Given the description of an element on the screen output the (x, y) to click on. 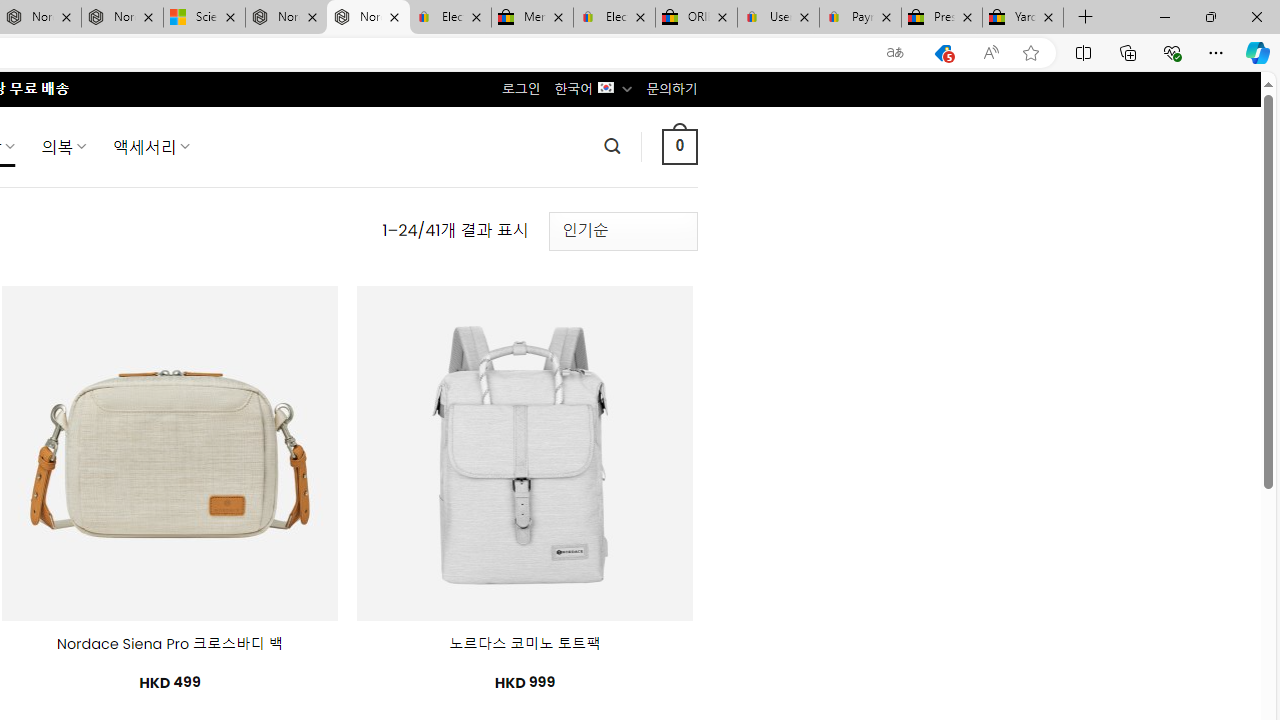
Show translate options (895, 53)
  0   (679, 146)
User Privacy Notice | eBay (778, 17)
